Given the description of an element on the screen output the (x, y) to click on. 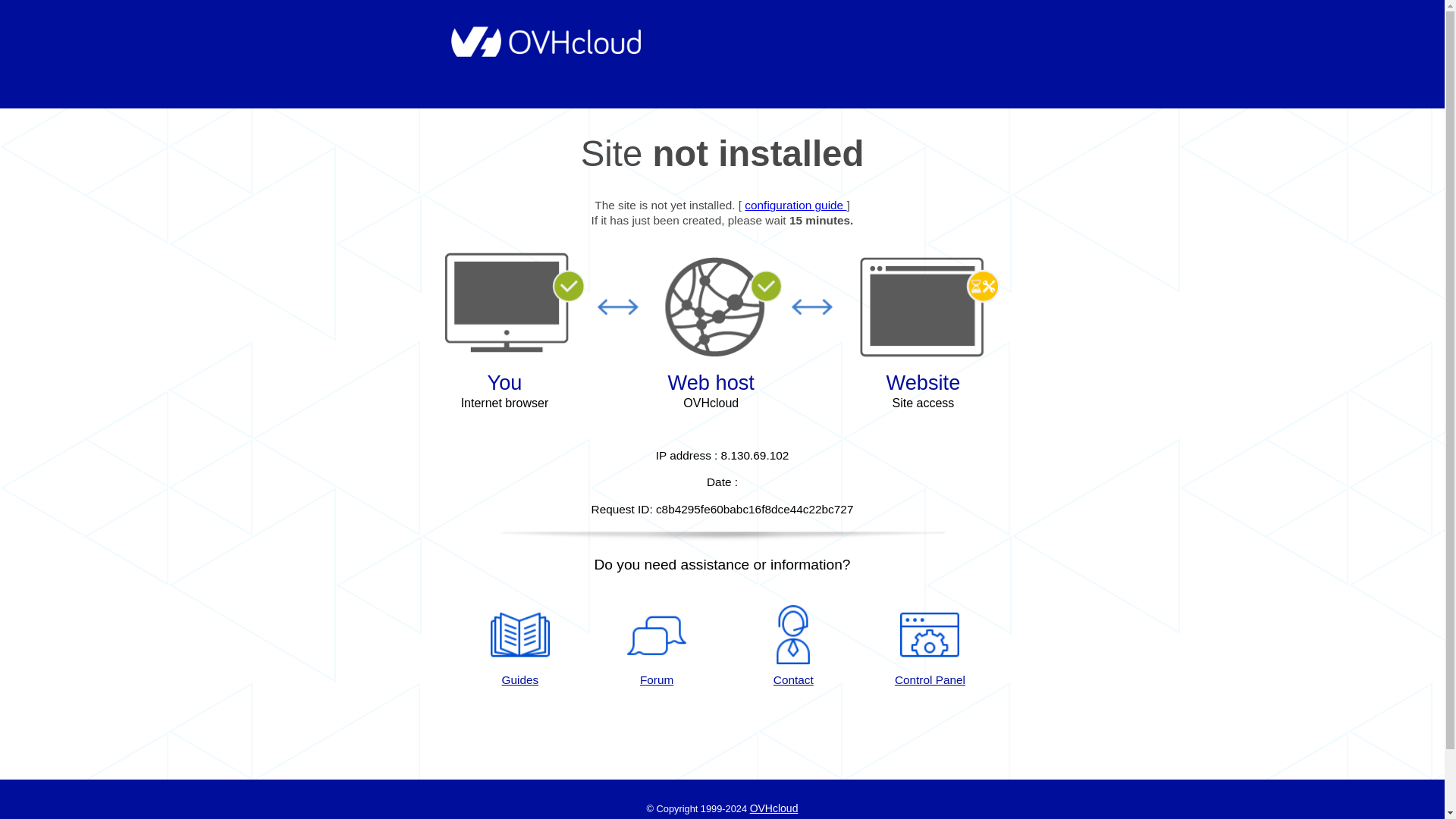
Guides (794, 205)
Forum (656, 646)
Control Panel (930, 646)
Contact (793, 646)
Control Panel (930, 646)
Guides (519, 646)
Guides (519, 646)
OVHcloud (773, 808)
Contact (793, 646)
configuration guide (794, 205)
Forum (656, 646)
